Given the description of an element on the screen output the (x, y) to click on. 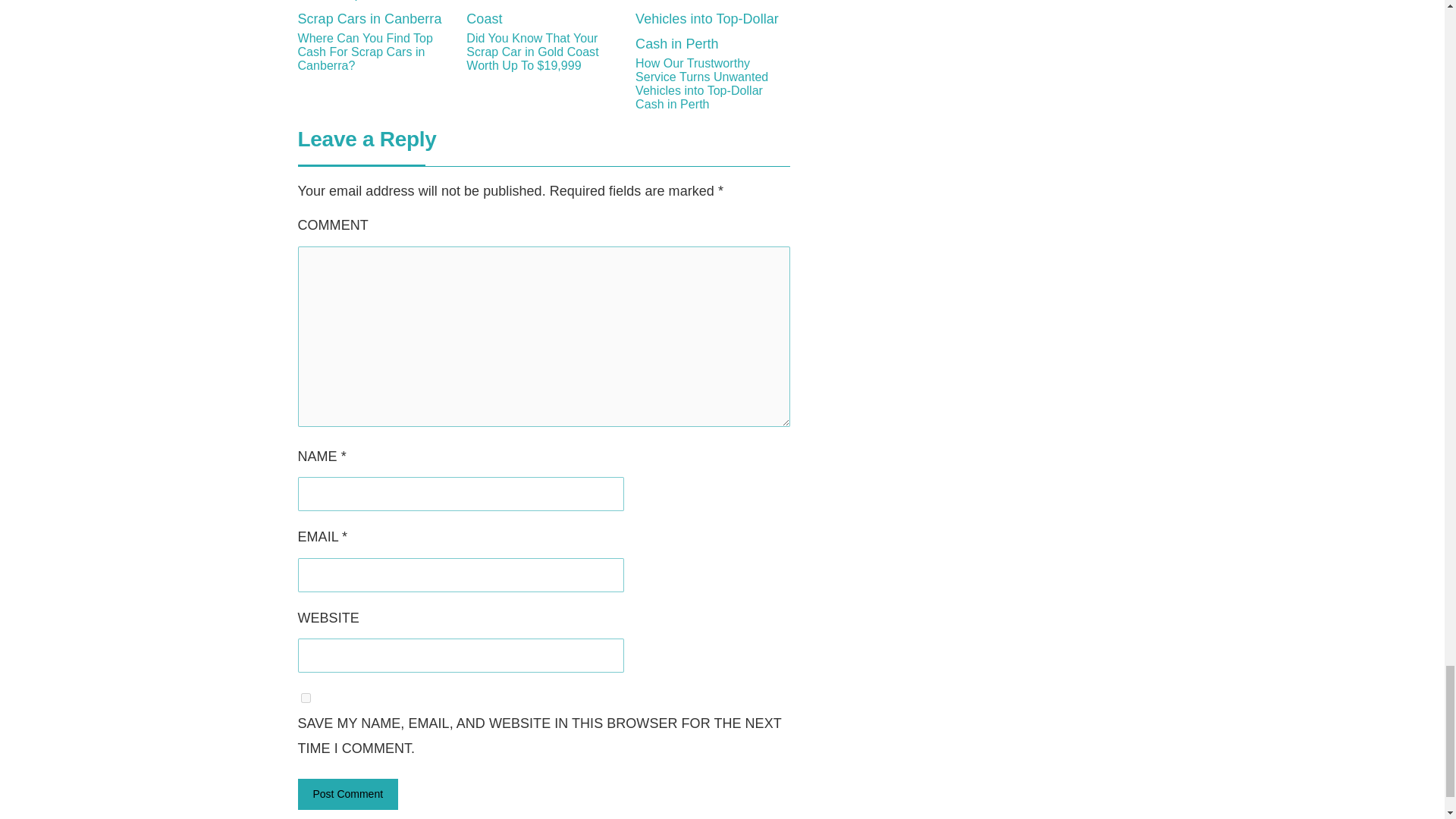
yes (304, 697)
Where Can You Find Top Cash For Scrap Cars in Canberra? (374, 51)
Post Comment (347, 793)
